Given the description of an element on the screen output the (x, y) to click on. 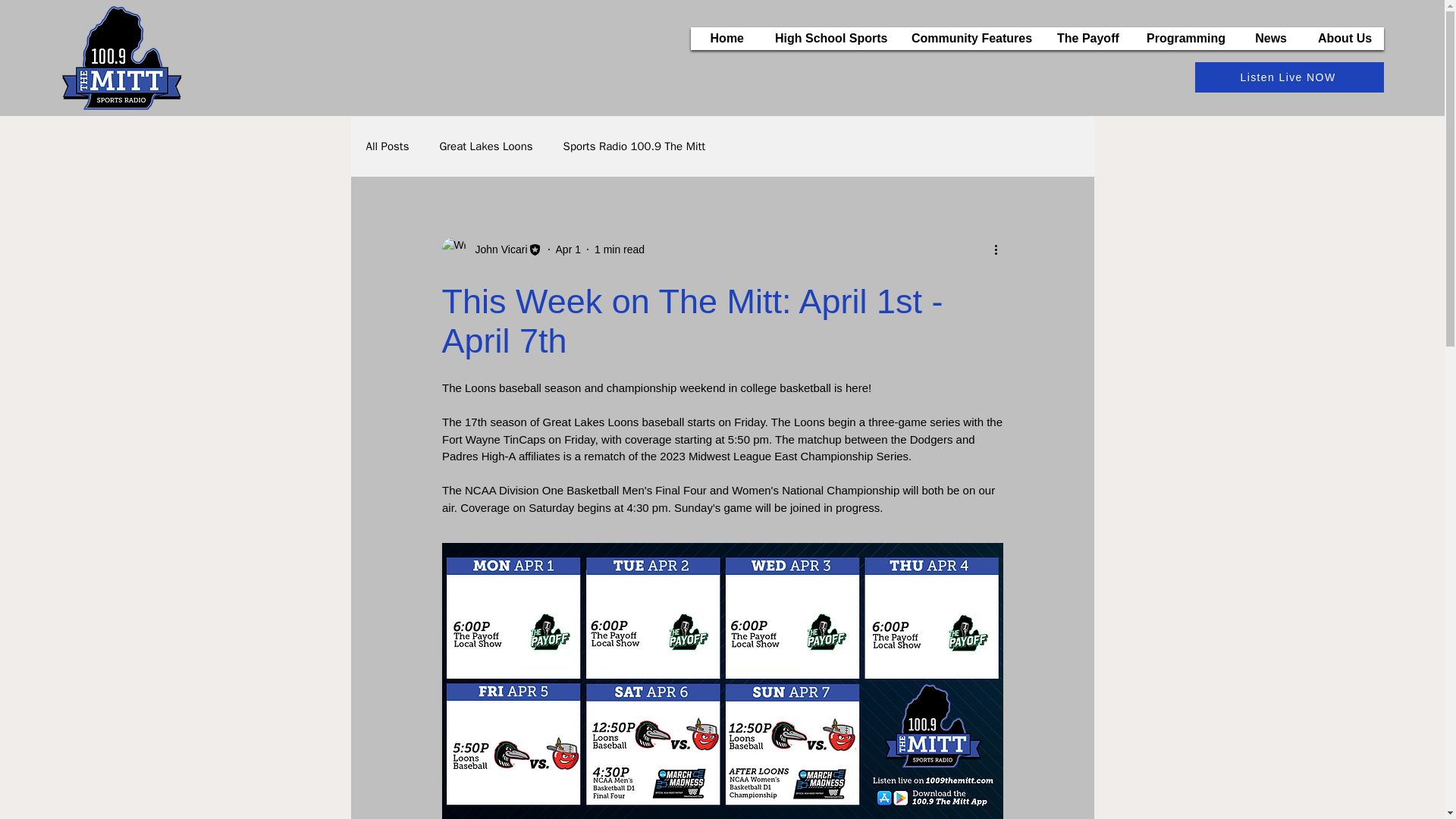
Listen Live NOW (1289, 77)
News (1270, 38)
About Us (1344, 38)
1 min read (619, 248)
Sports Radio 100.9 The Mitt (634, 146)
High School Sports (827, 38)
The Payoff (1086, 38)
Home (725, 38)
All Posts (387, 146)
Apr 1 (568, 248)
John Vicari (496, 248)
Programming (1184, 38)
John Vicari (491, 249)
Great Lakes Loons (485, 146)
